Given the description of an element on the screen output the (x, y) to click on. 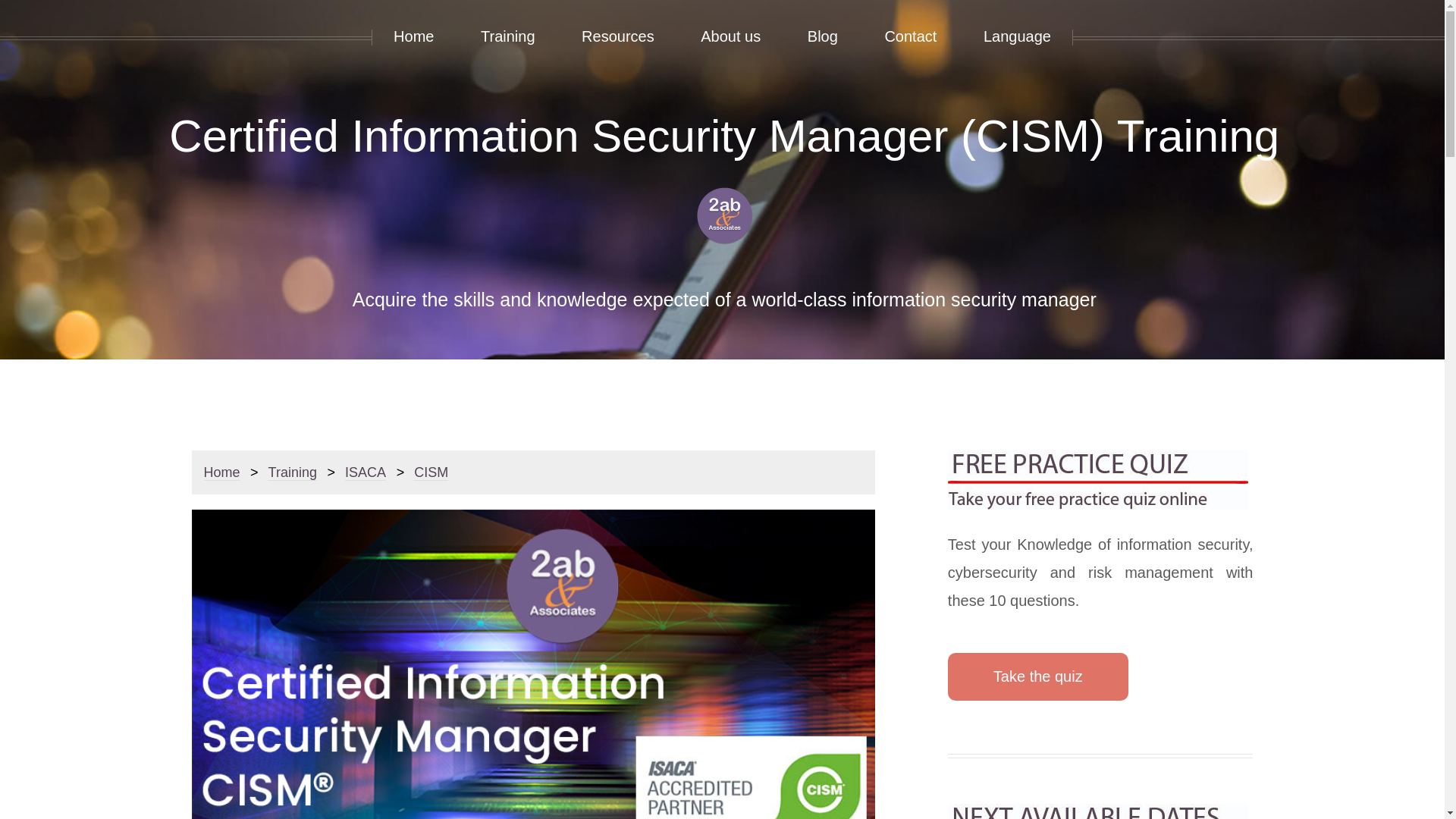
CISM Element type: text (431, 472)
Training Element type: text (292, 472)
ISACA Element type: text (365, 472)
Certified Information Security Manager (CISM) Training Element type: text (724, 136)
Home Element type: text (221, 472)
Take the quiz Element type: text (1037, 675)
